Given the description of an element on the screen output the (x, y) to click on. 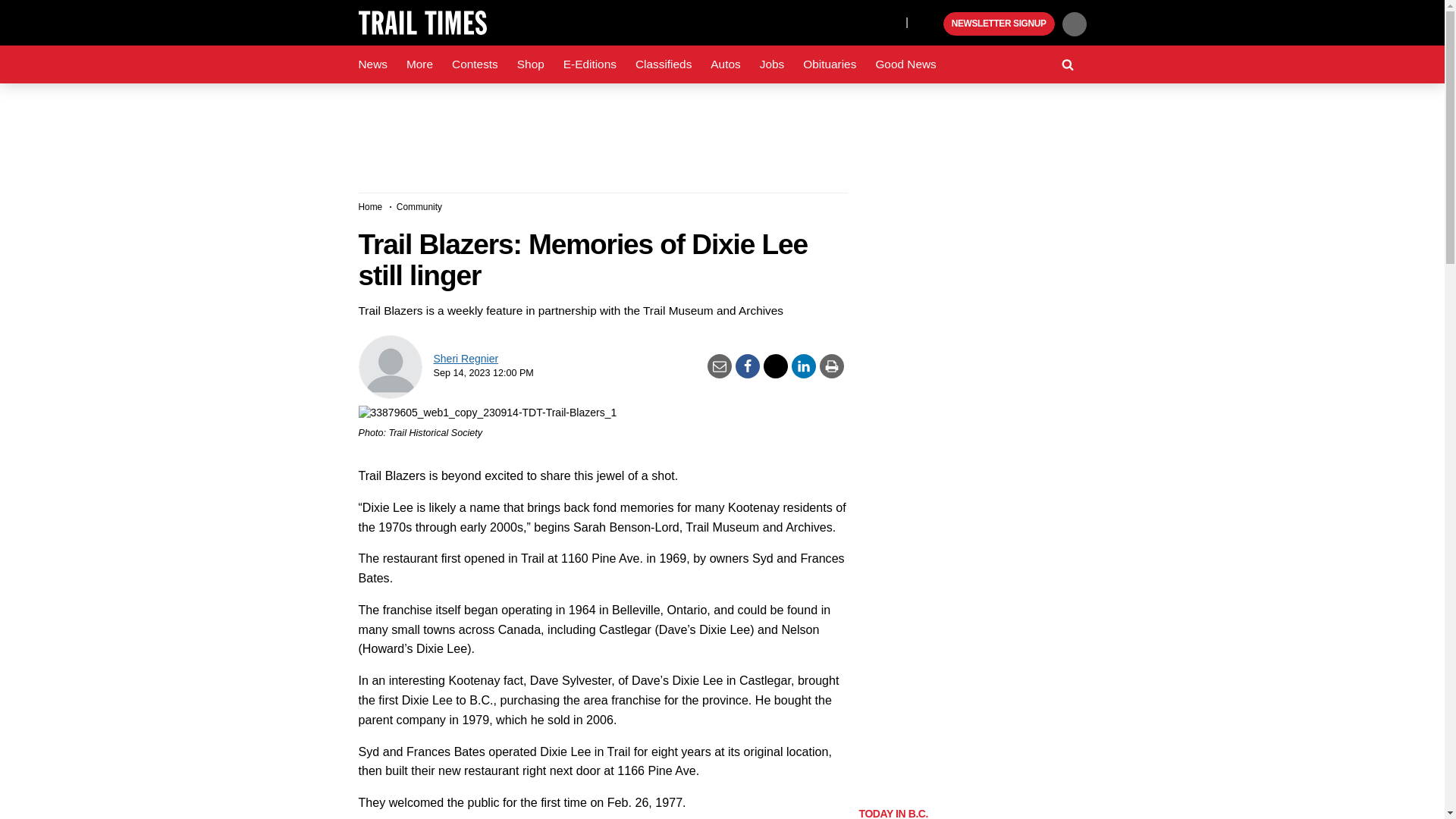
NEWSLETTER SIGNUP (998, 24)
X (889, 21)
Black Press Media (929, 24)
Play (929, 24)
News (372, 64)
